Given the description of an element on the screen output the (x, y) to click on. 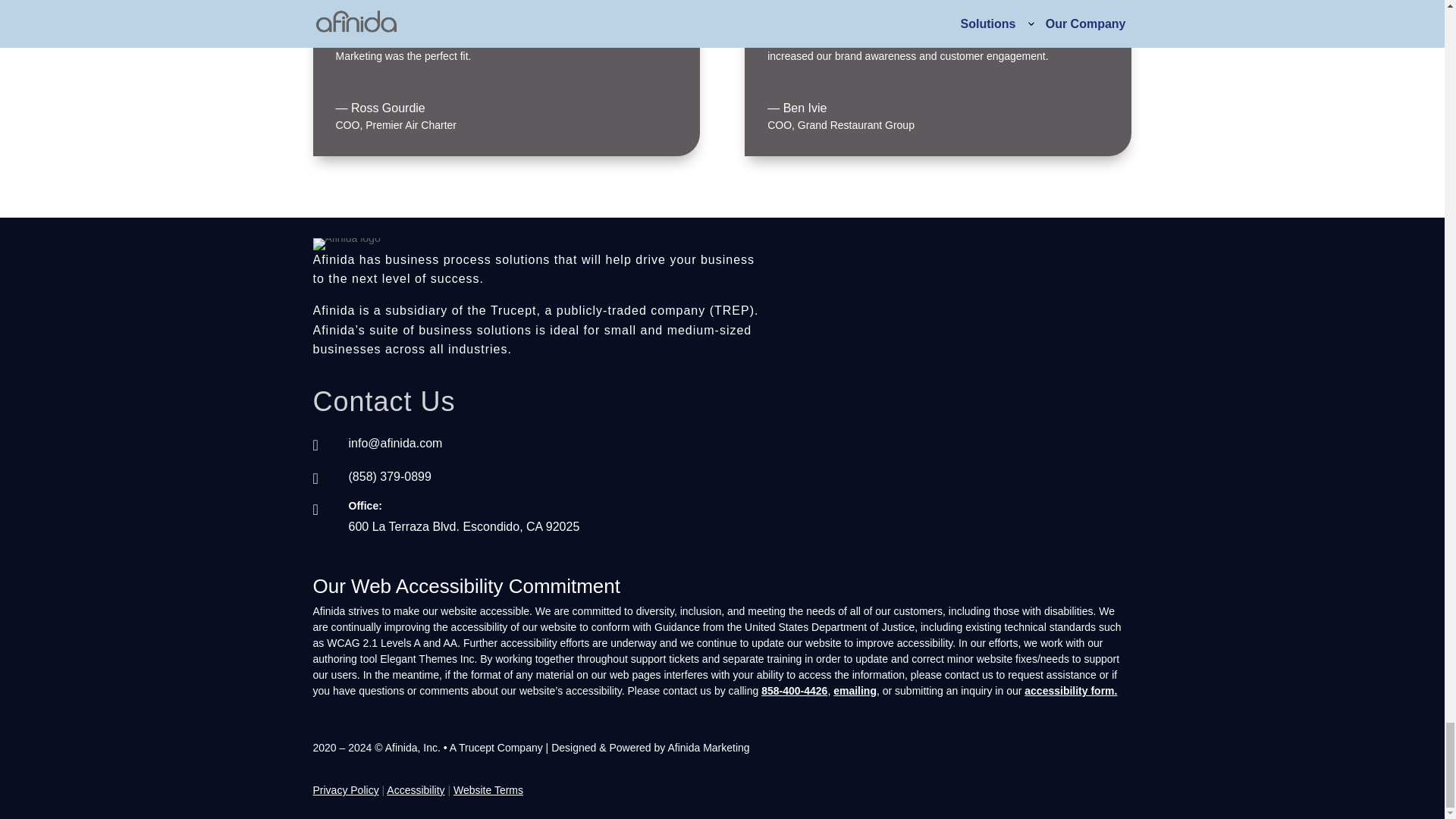
emailing (854, 690)
accessibility form. (1070, 690)
Accessibility (415, 789)
A Trucept Company (497, 747)
Afinida Marketing (707, 747)
858-400-4426 (794, 690)
600 La Terraza Blvd. Escondido, CA 92025 (464, 526)
Privacy Policy (345, 786)
Website Terms (487, 789)
